Given the description of an element on the screen output the (x, y) to click on. 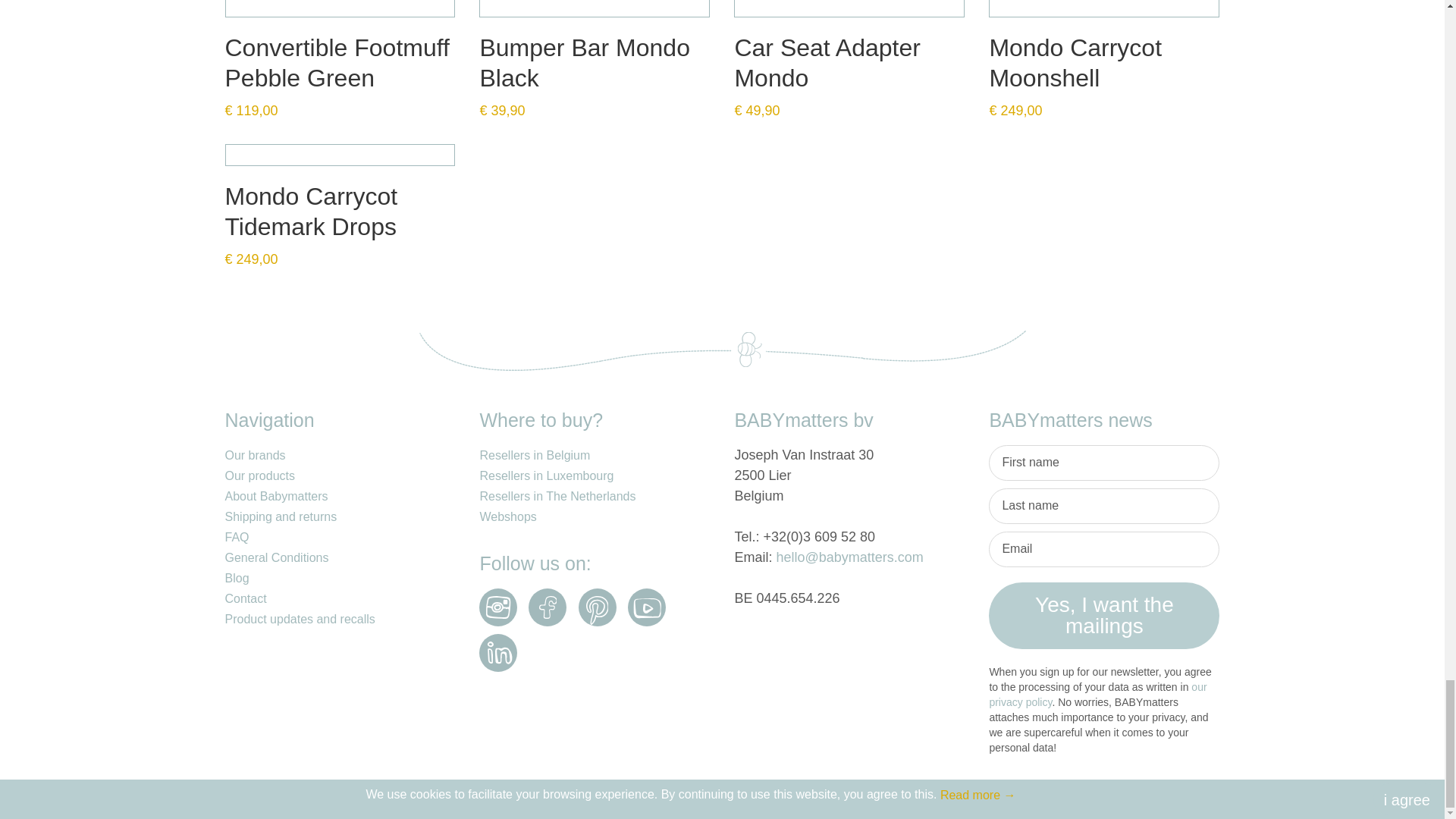
Bumper Bar Mondo Black (594, 8)
Car Seat Adapter Mondo (848, 8)
Convertible Footmuff  Pebble Green (339, 8)
Mondo Carrycot Moonshell  (1104, 8)
Mondo Carrycot Tidemark Drops (339, 155)
